Given the description of an element on the screen output the (x, y) to click on. 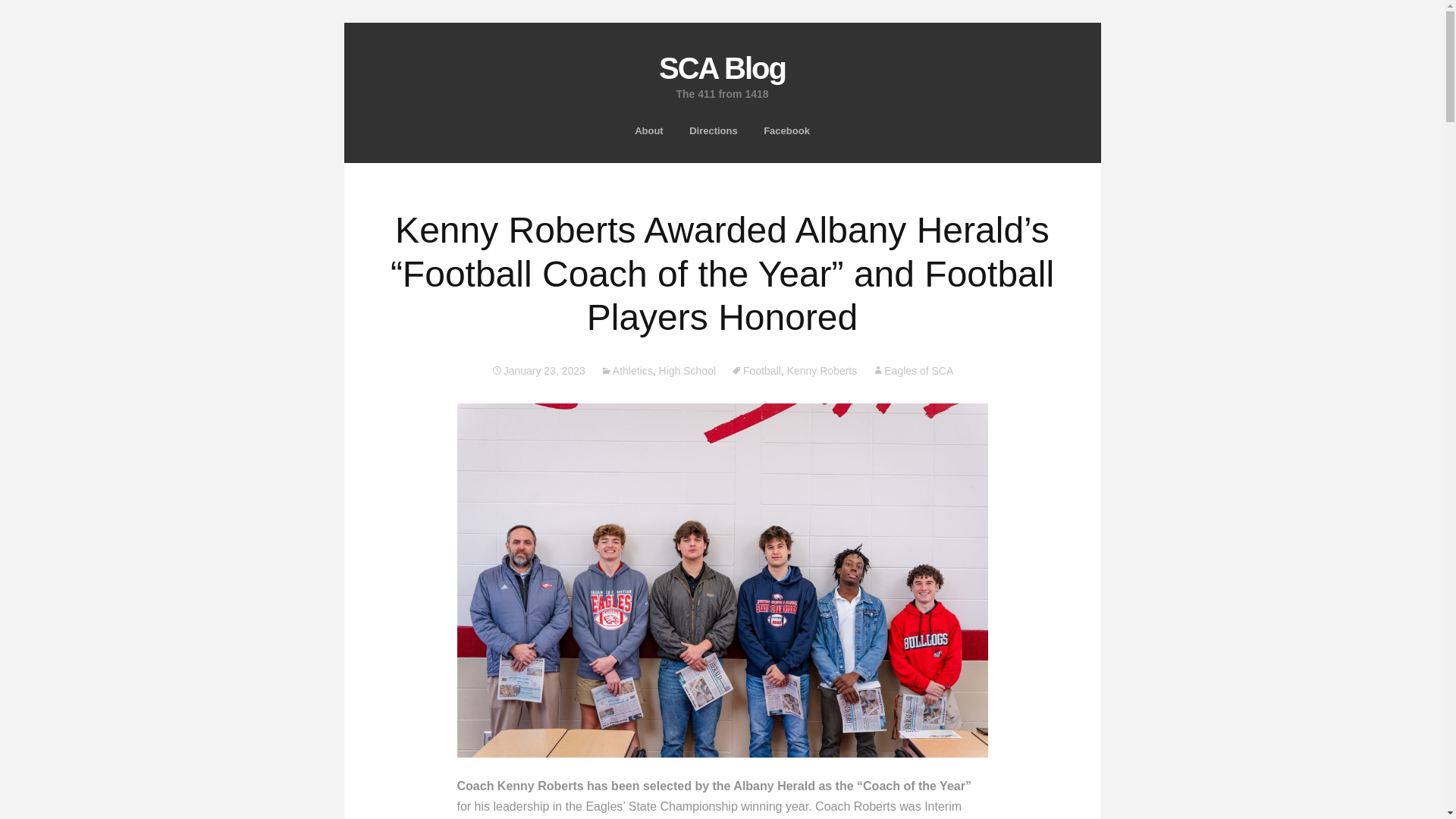
View all posts by Eagles of SCA (912, 370)
Eagles of SCA (912, 370)
Football (755, 370)
High School (687, 370)
Athletics (625, 370)
Facebook (721, 70)
Directions (786, 130)
January 23, 2023 (713, 130)
